Given the description of an element on the screen output the (x, y) to click on. 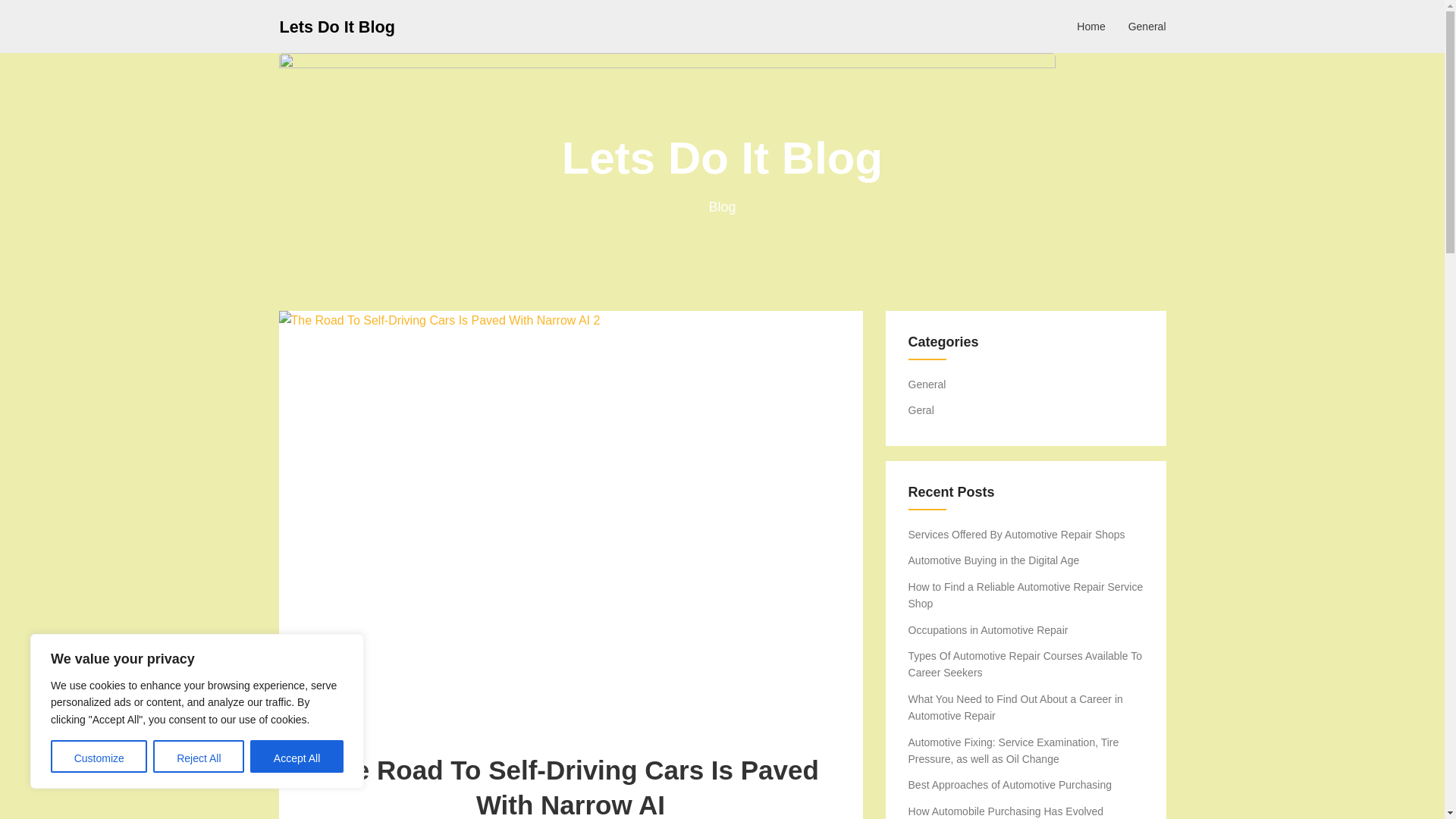
Services Offered By Automotive Repair Shops (1016, 534)
General (927, 384)
Accept All (296, 756)
Occupations in Automotive Repair (988, 630)
Automotive Buying in the Digital Age (994, 560)
Reject All (198, 756)
General (1146, 26)
How Automobile Purchasing Has Evolved (1005, 811)
Lets Do It Blog (336, 26)
